Given the description of an element on the screen output the (x, y) to click on. 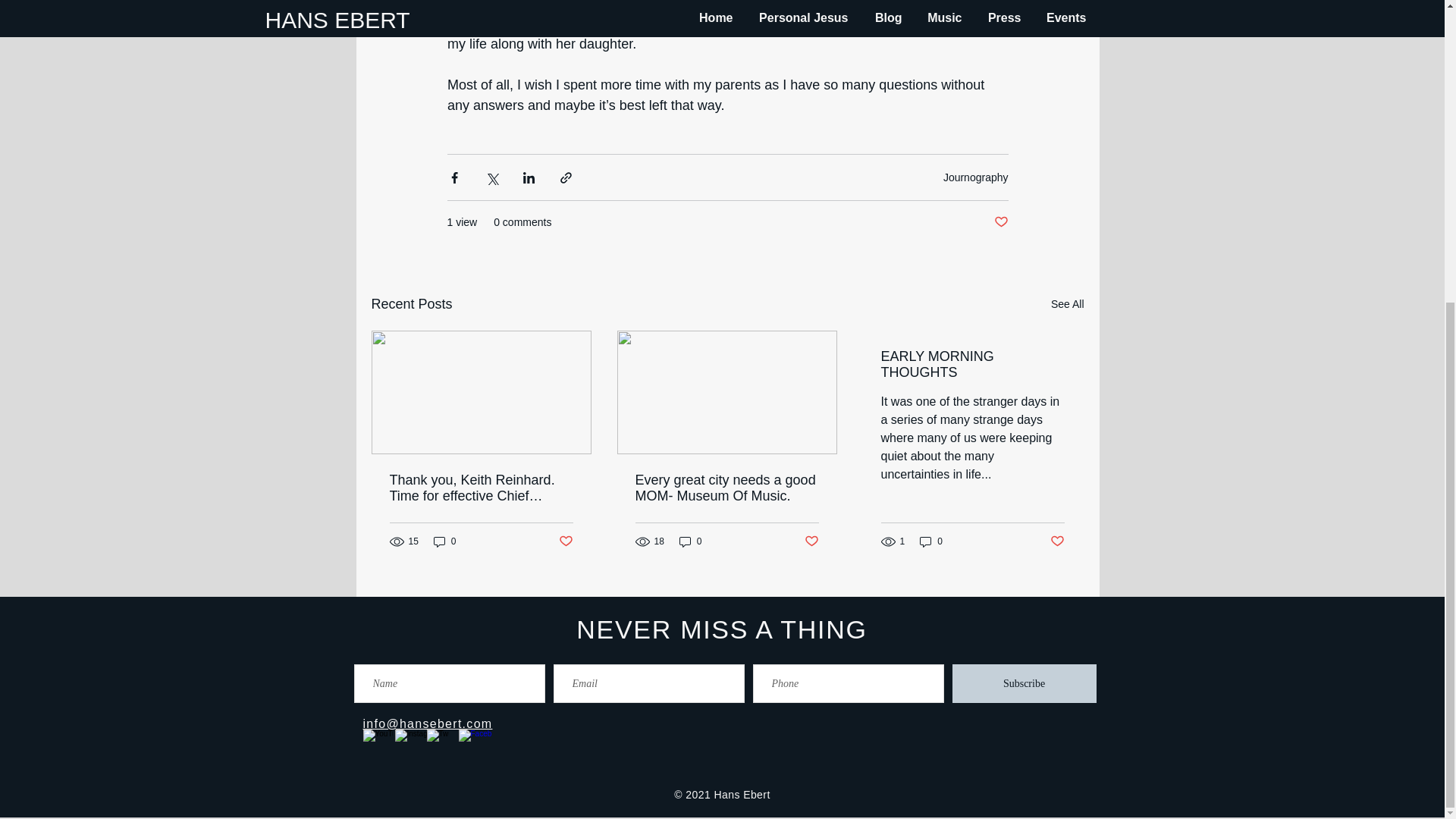
Every great city needs a good MOM- Museum Of Music. (726, 488)
Post not marked as liked (564, 541)
0 (930, 541)
0 (445, 541)
See All (1067, 304)
Post not marked as liked (999, 222)
EARLY MORNING THOUGHTS (972, 364)
0 (690, 541)
Journography (976, 177)
Post not marked as liked (810, 541)
